Given the description of an element on the screen output the (x, y) to click on. 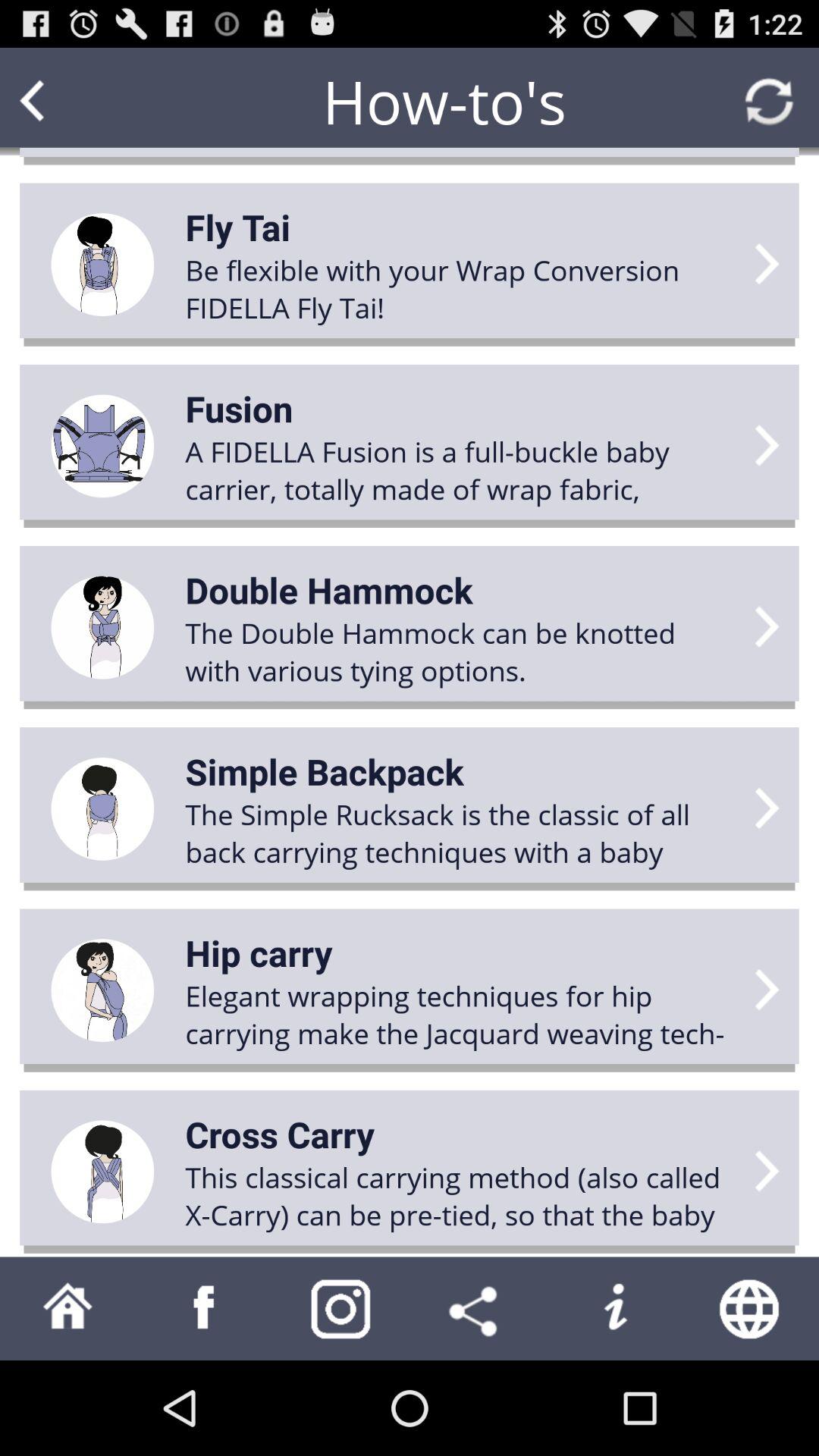
click icon next to the how-to's (61, 101)
